Given the description of an element on the screen output the (x, y) to click on. 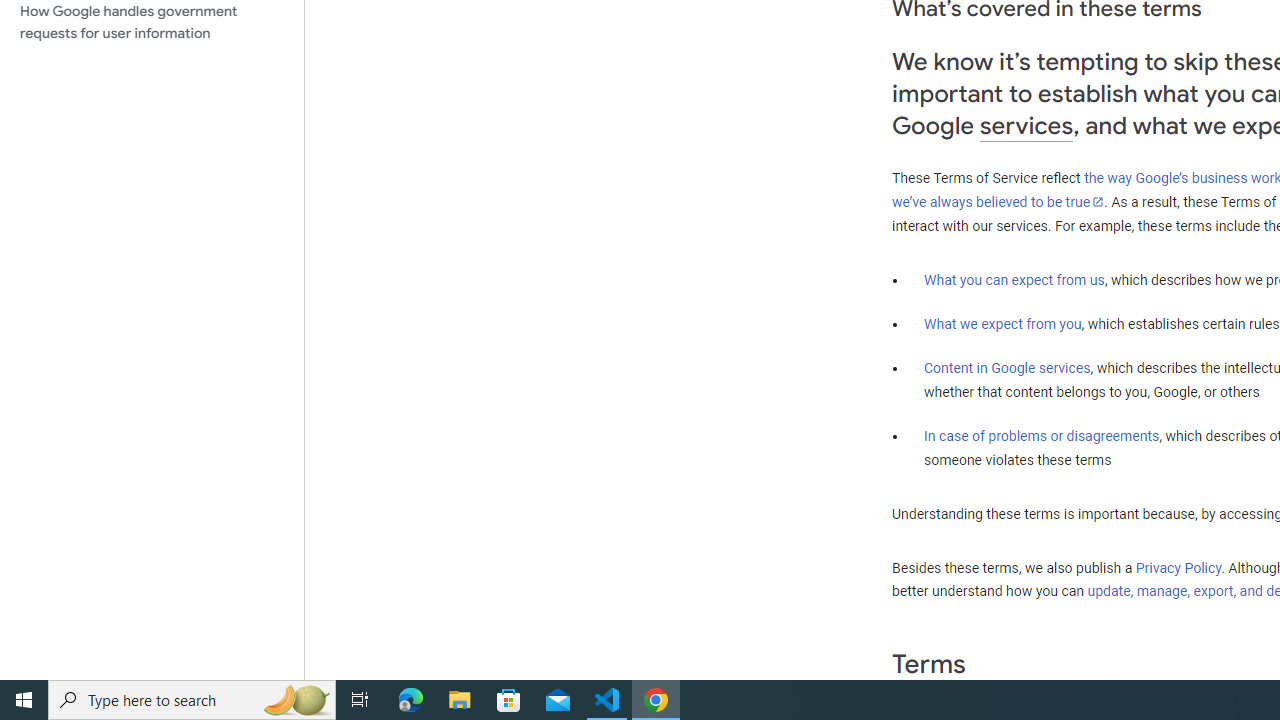
Content in Google services (1007, 368)
What you can expect from us (1014, 279)
What we expect from you (1002, 323)
services (1026, 125)
In case of problems or disagreements (1041, 435)
